Given the description of an element on the screen output the (x, y) to click on. 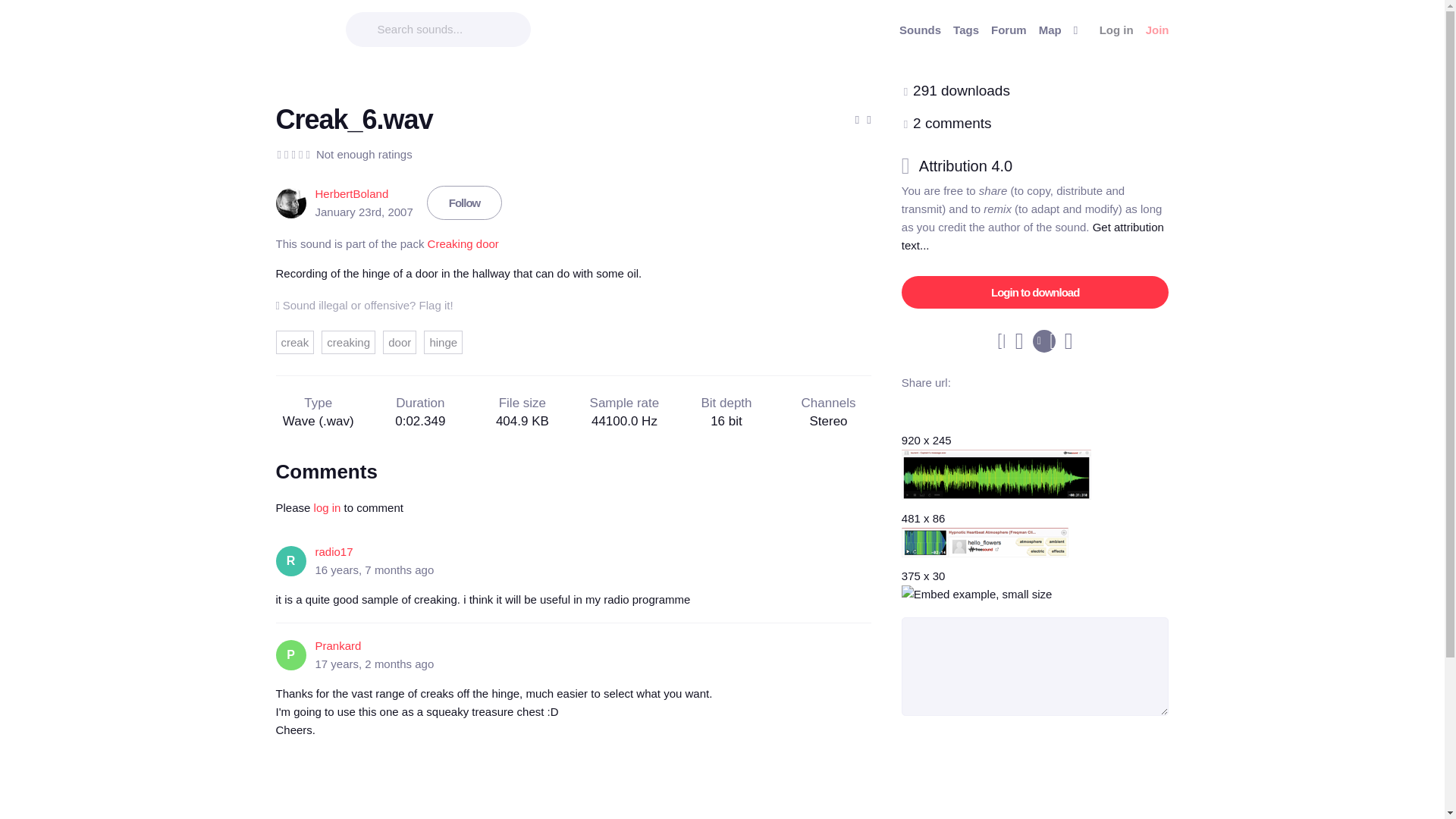
Average rating not shown as there are not enough ratings (293, 154)
log in (327, 507)
Go to the full license text (974, 166)
hinge (443, 341)
Join (1157, 29)
Sounds (919, 30)
Map (1050, 30)
This sound has been downloaded 291 times (961, 90)
Sound illegal or offensive? Flag it! (364, 305)
Creaking door (463, 243)
Follow (464, 202)
HerbertBoland (351, 193)
creak (295, 341)
This sound has received 2 comments (951, 123)
Forum (1008, 30)
